Given the description of an element on the screen output the (x, y) to click on. 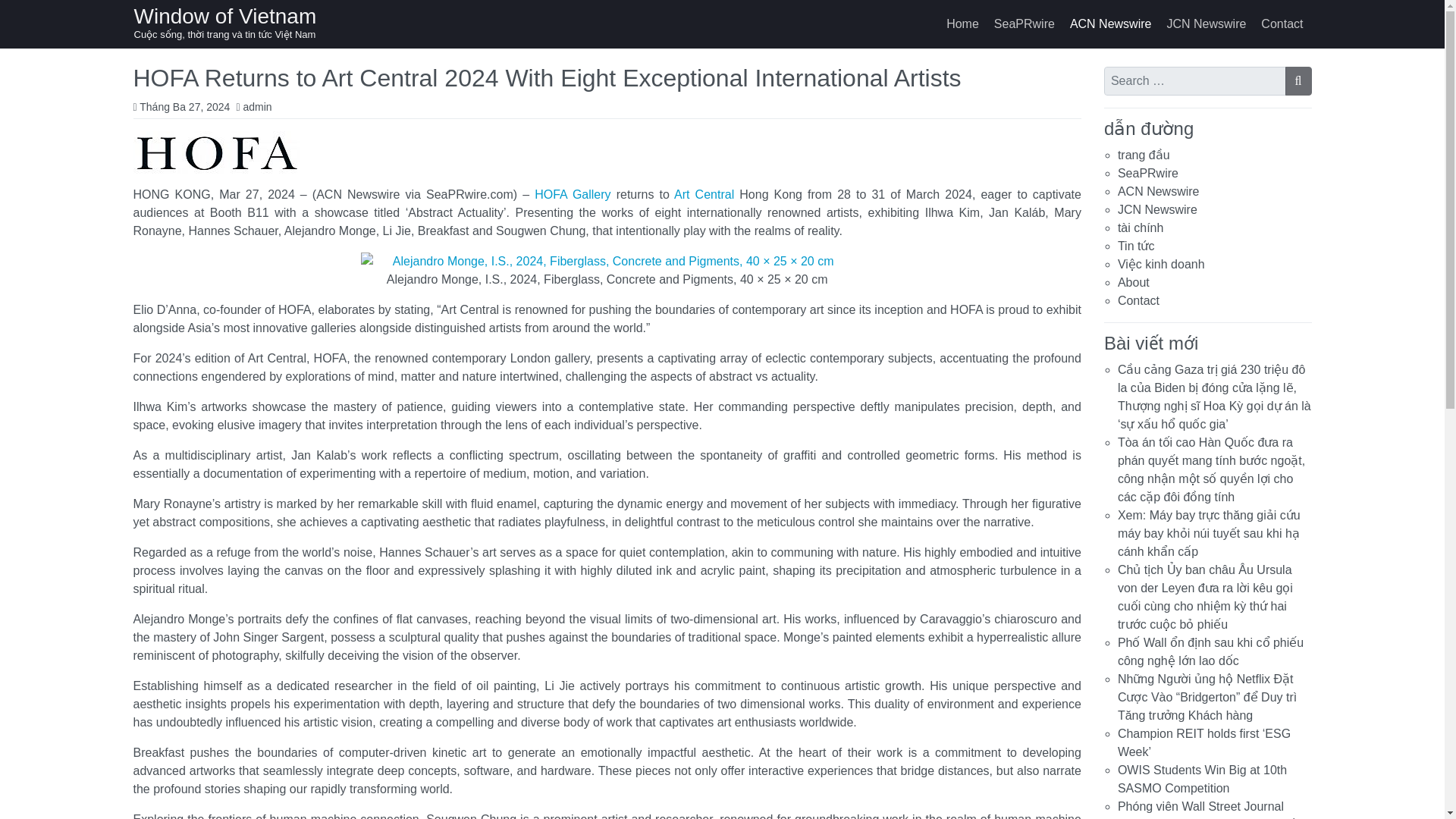
JCN Newswire (1157, 209)
ACN Newswire (1158, 191)
Skip to content (17, 14)
SeaPRwire (1024, 23)
Contact (1281, 23)
Home (963, 23)
ACN Newswire (1110, 23)
JCN Newswire (1205, 23)
About (1134, 282)
Art Central (703, 194)
admin (256, 105)
Contact (1138, 300)
OWIS Students Win Big at 10th SASMO Competition (1202, 777)
Window of Vietnam (224, 15)
Home (963, 23)
